Given the description of an element on the screen output the (x, y) to click on. 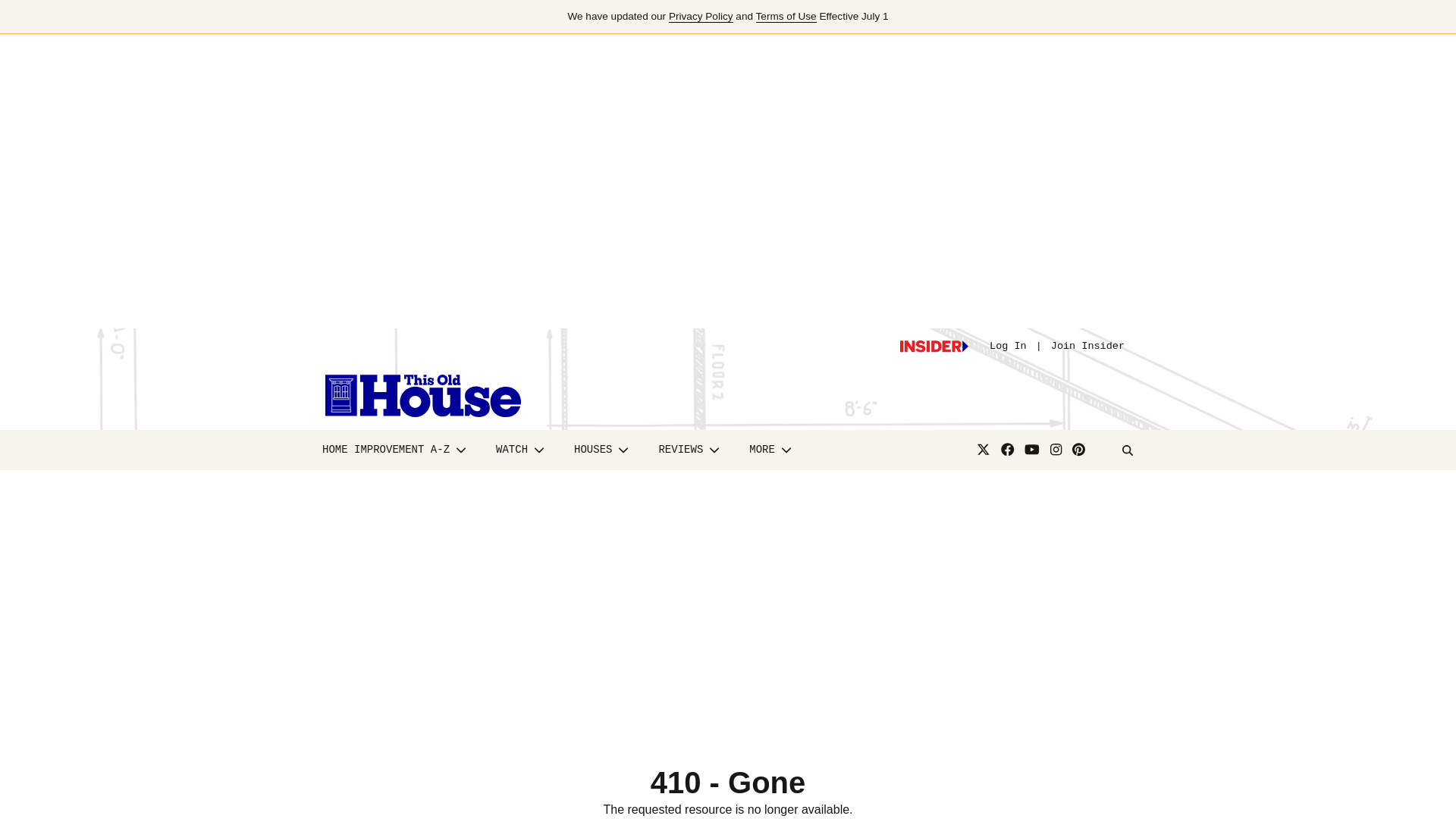
Privacy Policy (700, 16)
Terms of Use (785, 16)
Log In (1008, 346)
Log in or sign up (933, 346)
Join Insider (1087, 346)
